Given the description of an element on the screen output the (x, y) to click on. 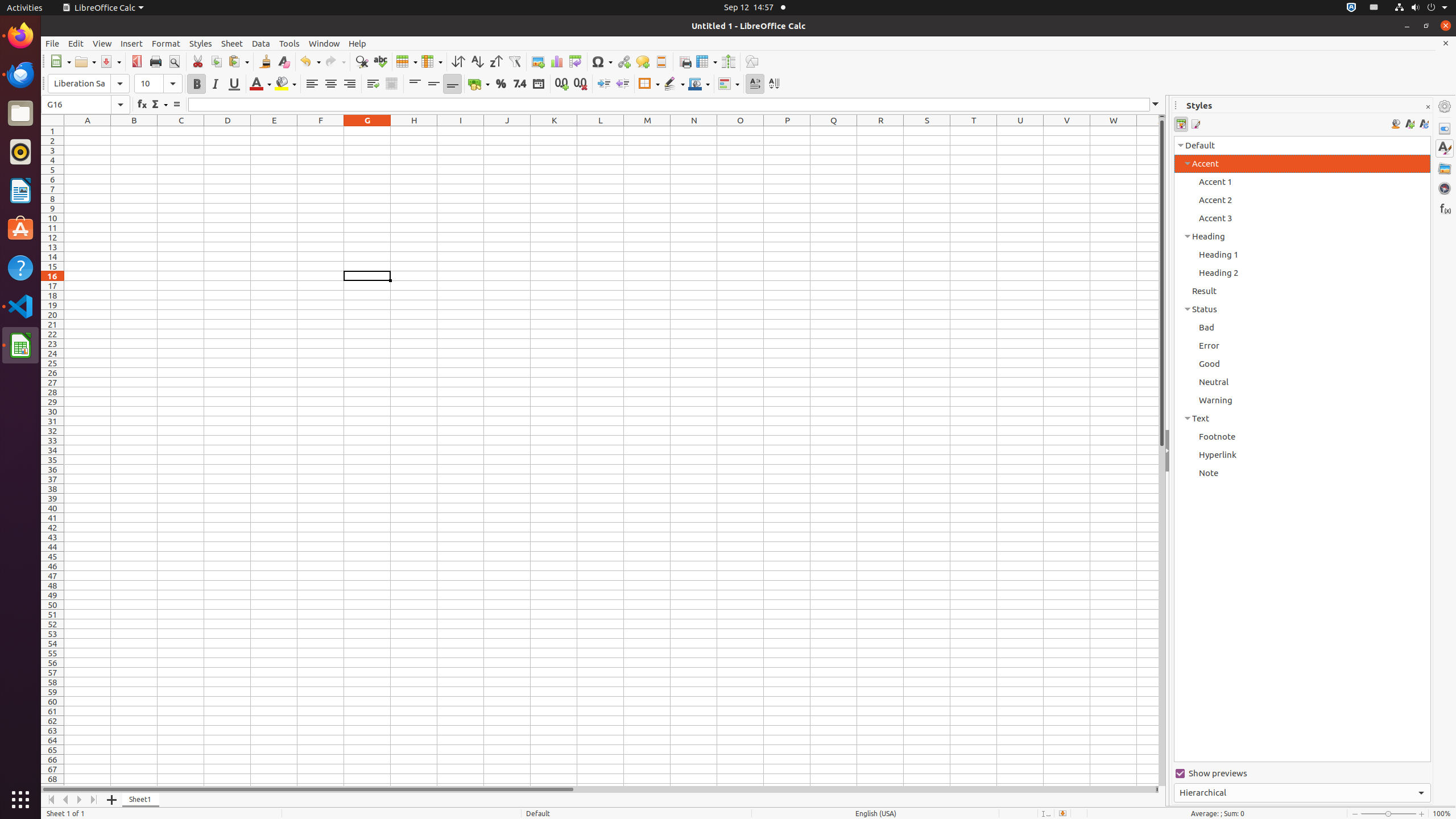
Horizontal scroll bar Element type: scroll-bar (597, 789)
W1 Element type: table-cell (1113, 130)
Bold Element type: toggle-button (196, 83)
Align Left Element type: push-button (311, 83)
Gallery Element type: radio-button (1444, 168)
